Given the description of an element on the screen output the (x, y) to click on. 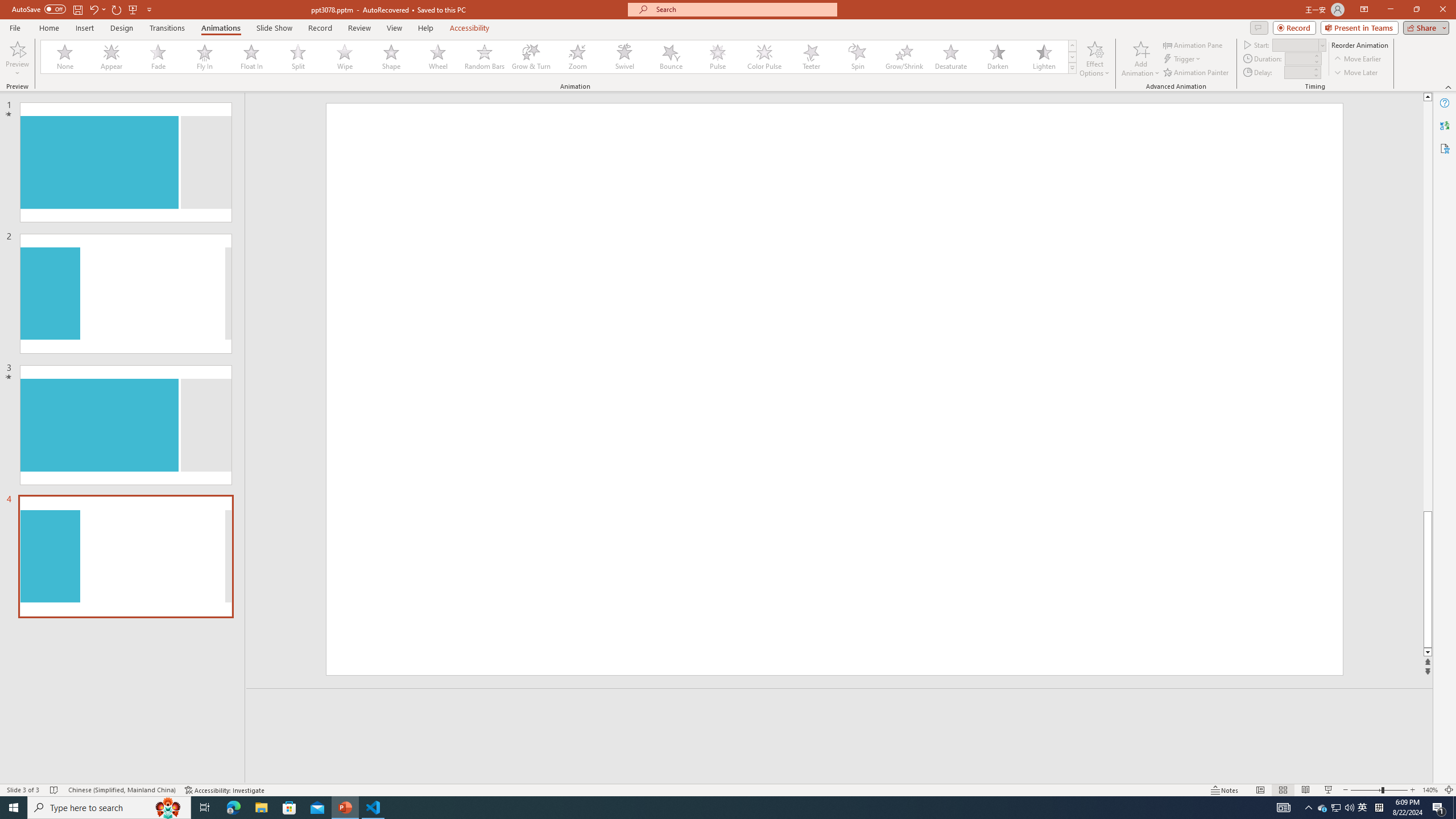
AutomationID: AnimationGallery (558, 56)
Wheel (437, 56)
Appear (111, 56)
Shape (391, 56)
Darken (997, 56)
